Given the description of an element on the screen output the (x, y) to click on. 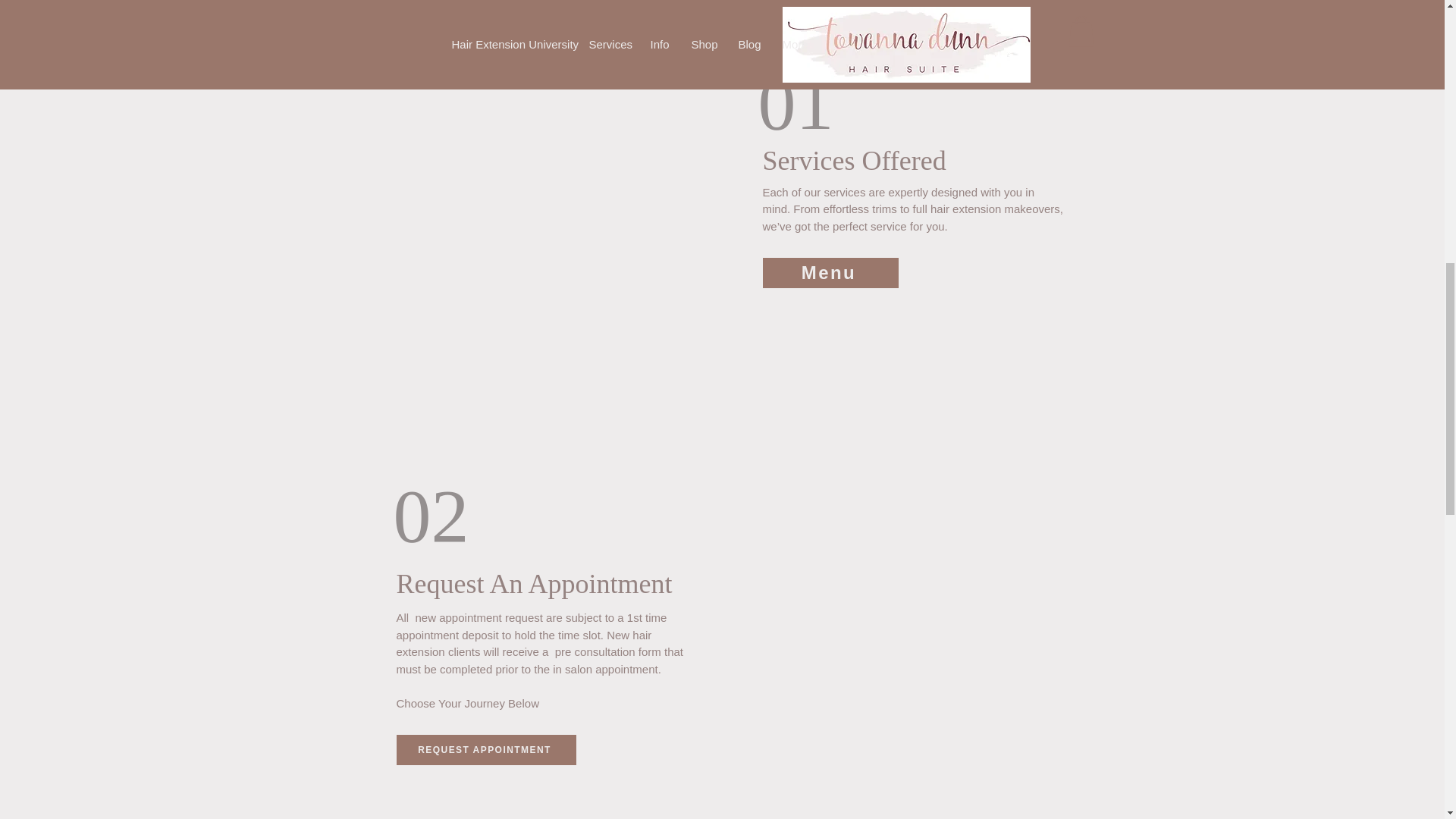
Menu (830, 272)
REQUEST APPOINTMENT (485, 749)
